Given the description of an element on the screen output the (x, y) to click on. 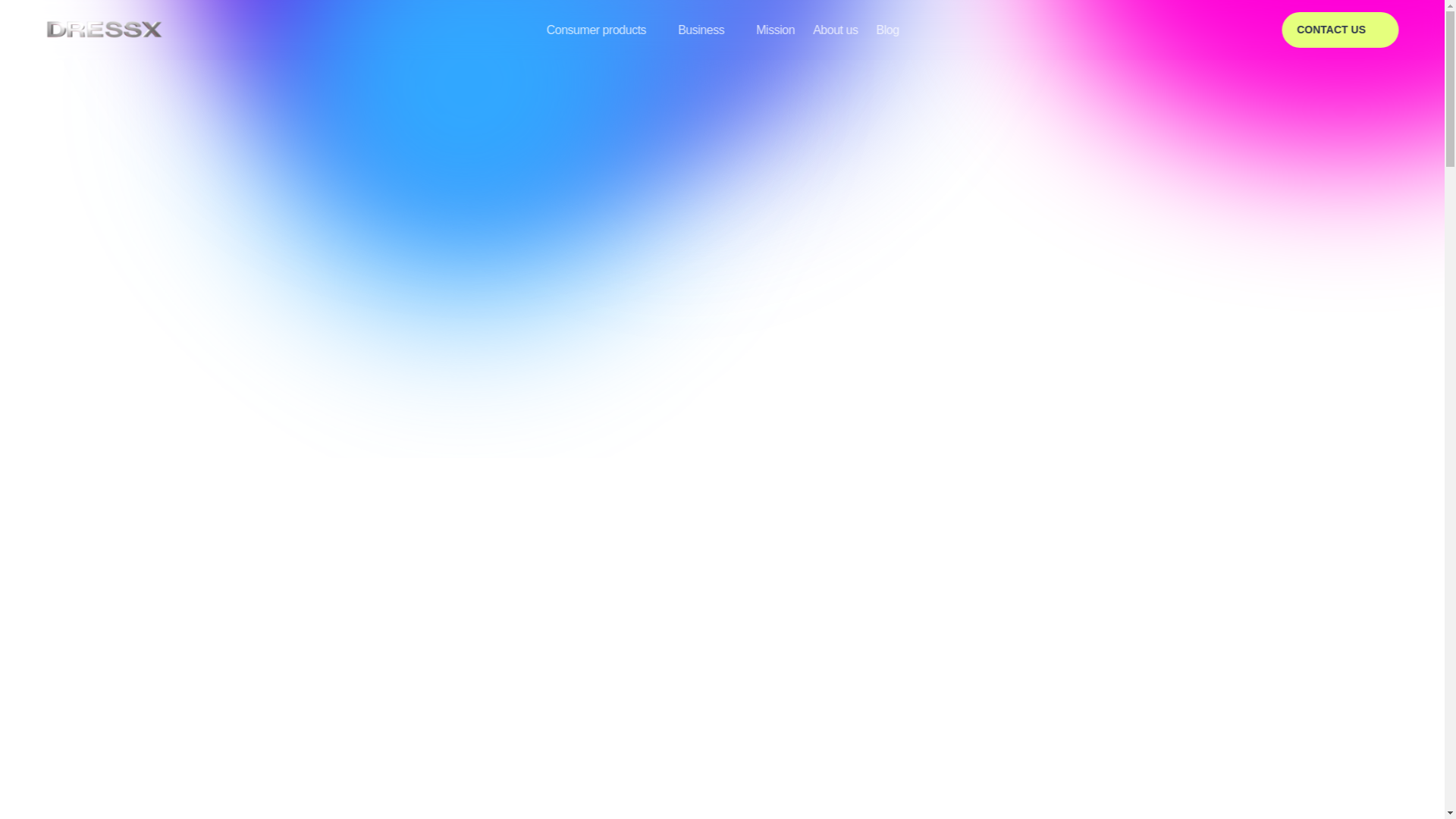
CONTACT US (1340, 29)
Business (700, 29)
Mission (774, 29)
EXPLORE THE STORE (769, 410)
Blog (887, 29)
Consumer products (596, 29)
About us (834, 29)
